Given the description of an element on the screen output the (x, y) to click on. 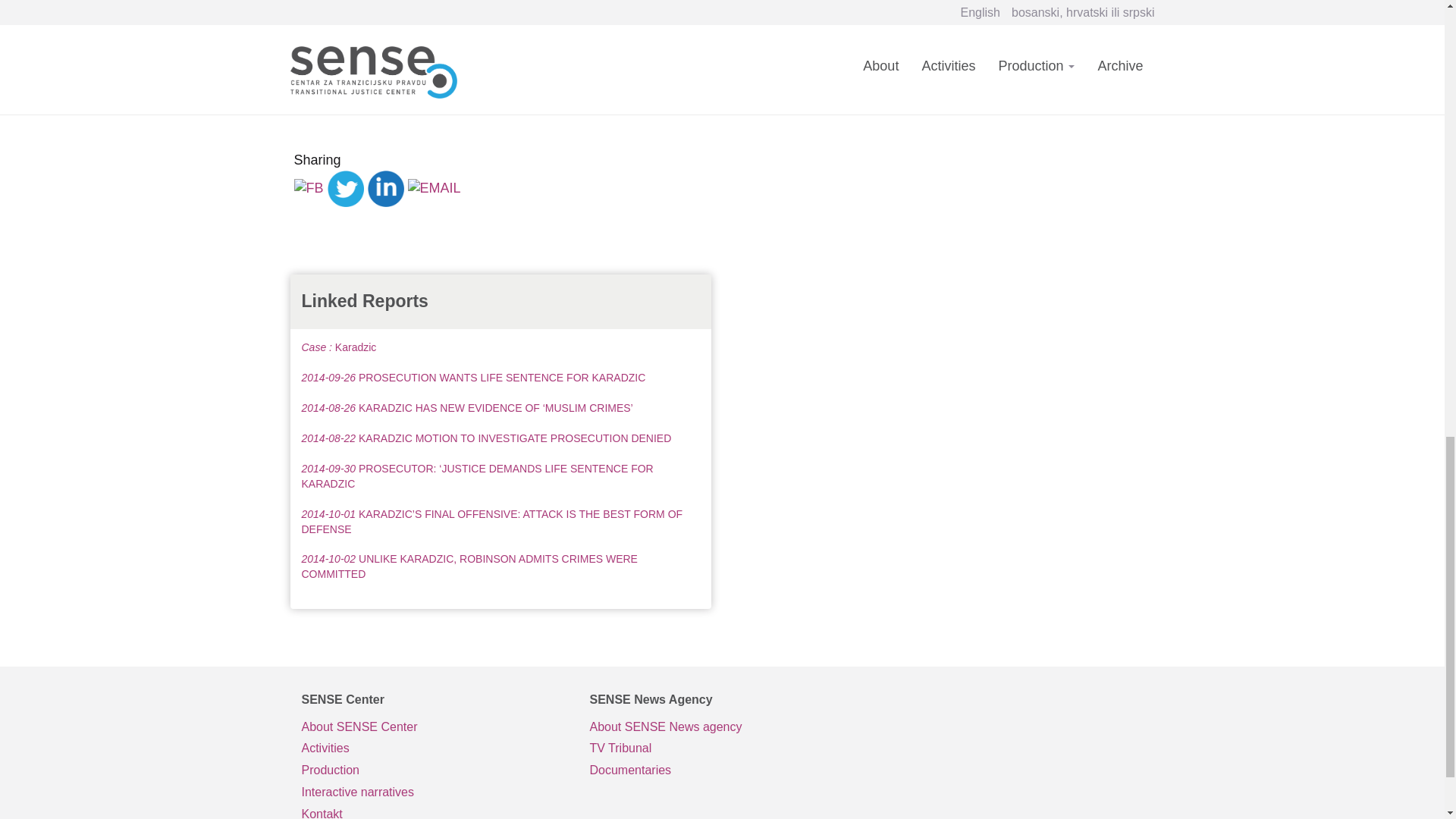
Production (434, 771)
2014-09-26 PROSECUTION WANTS LIFE SENTENCE FOR KARADZIC (473, 377)
Interactive narratives (434, 792)
About SENSE News agency (721, 727)
TV Tribunal (721, 748)
Documentaries (721, 771)
Activities (434, 748)
About SENSE Center (434, 727)
Case : Karadzic (339, 346)
